Given the description of an element on the screen output the (x, y) to click on. 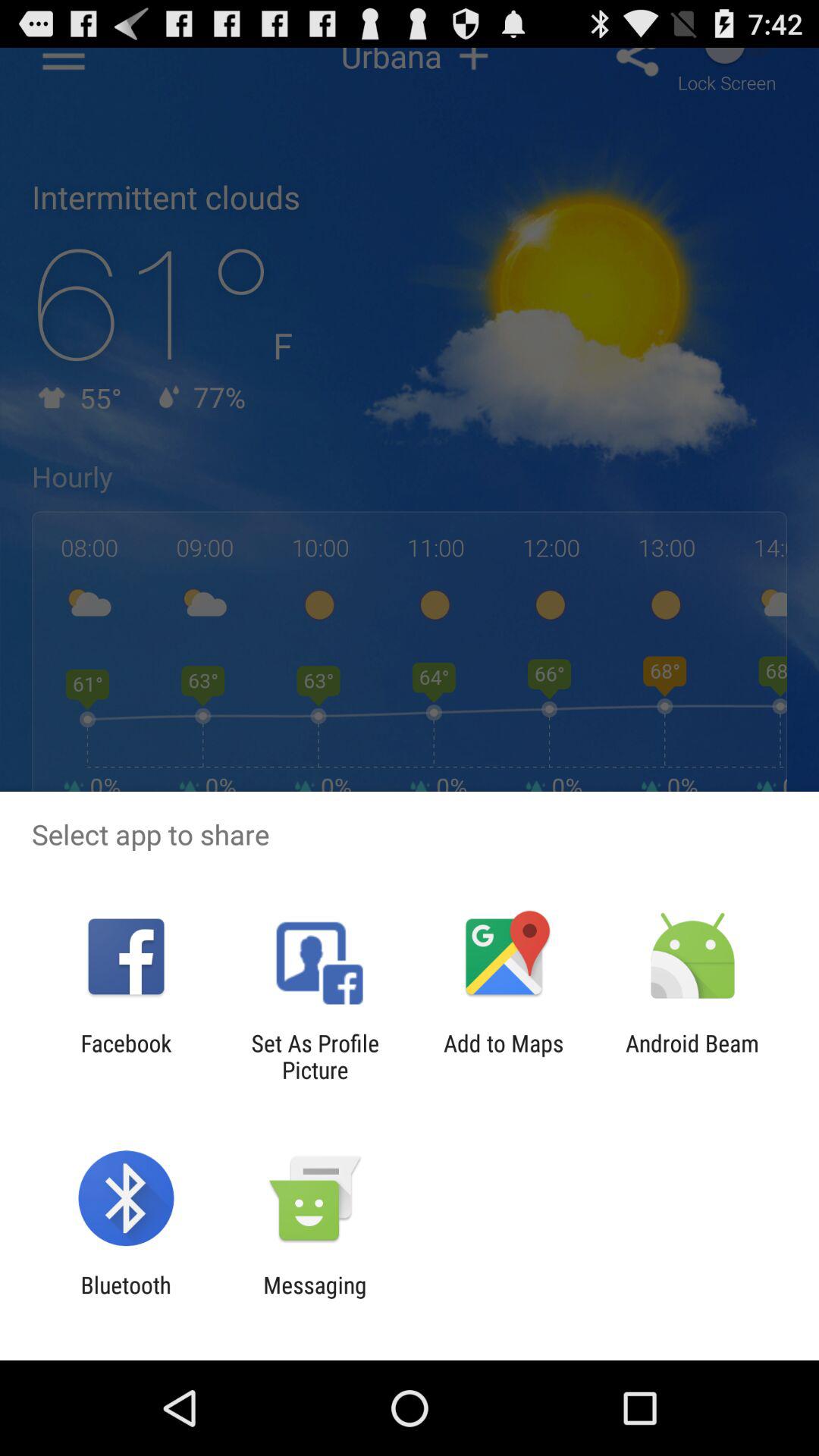
select the icon to the right of set as profile item (503, 1056)
